Given the description of an element on the screen output the (x, y) to click on. 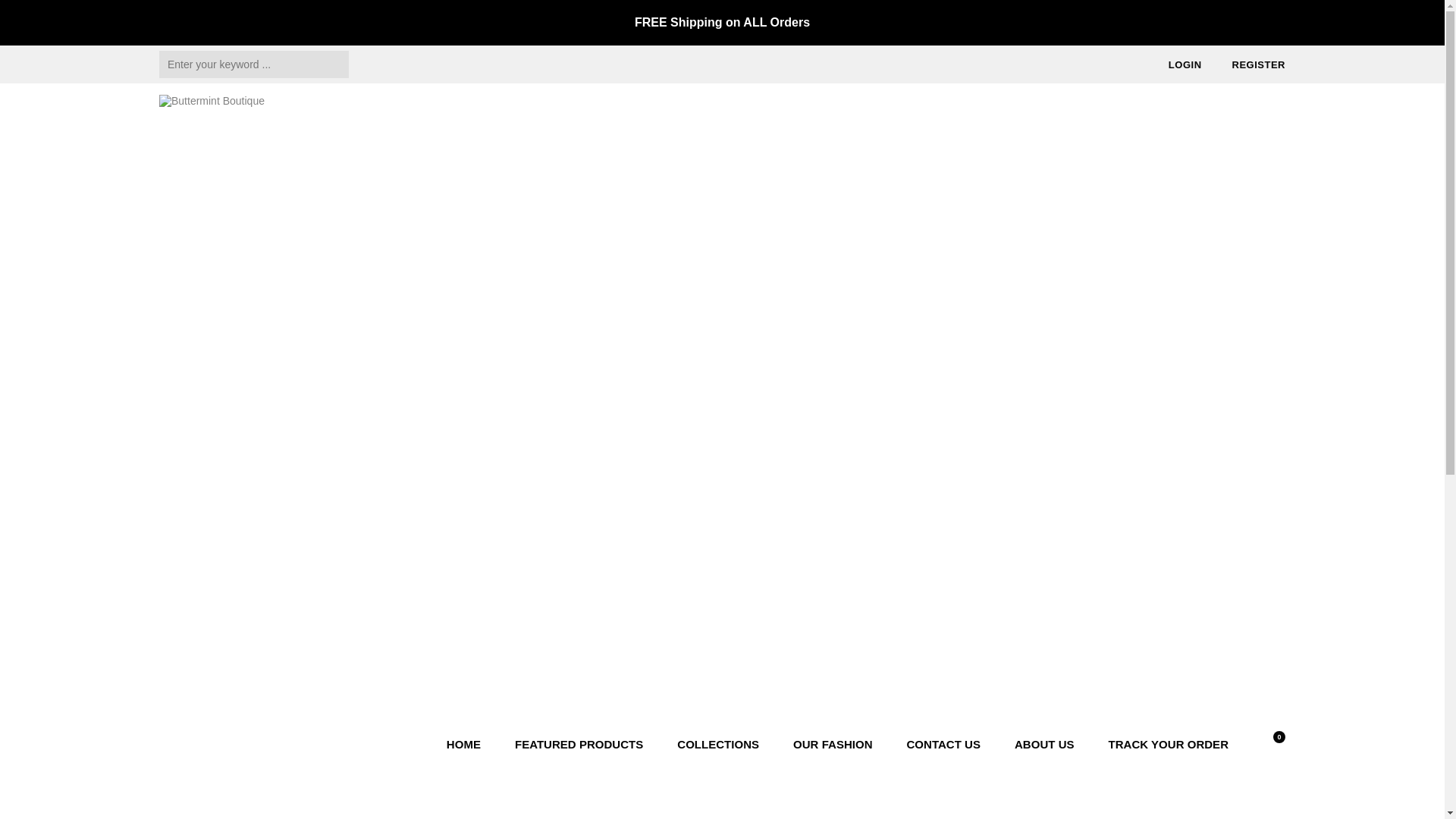
REGISTER (1258, 64)
COLLECTIONS (717, 744)
FEATURED PRODUCTS (578, 744)
TRACK YOUR ORDER (1166, 744)
HOME (465, 744)
ABOUT US (1044, 744)
CONTACT US (943, 744)
OUR FASHION (832, 744)
LOGIN (1190, 64)
